Given the description of an element on the screen output the (x, y) to click on. 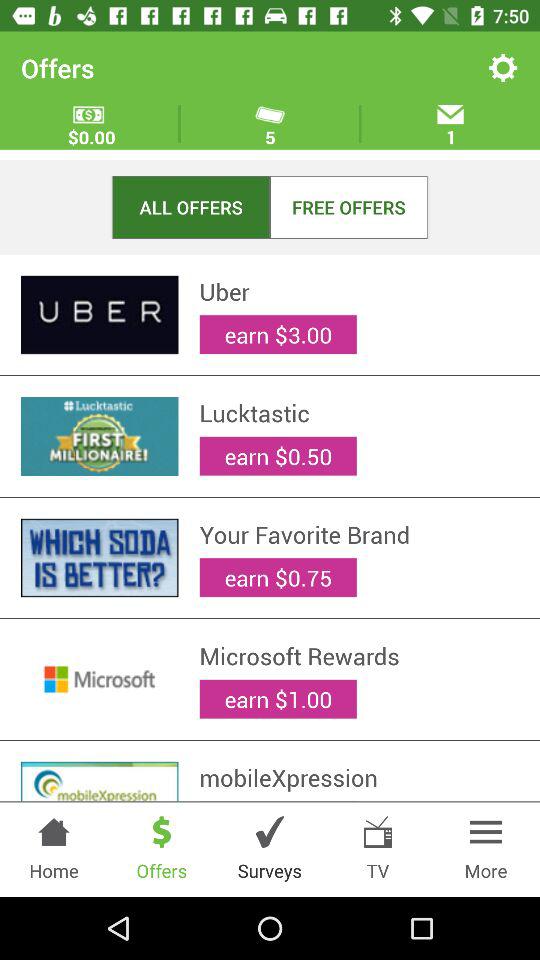
open icon below earn $0.50 icon (359, 534)
